Given the description of an element on the screen output the (x, y) to click on. 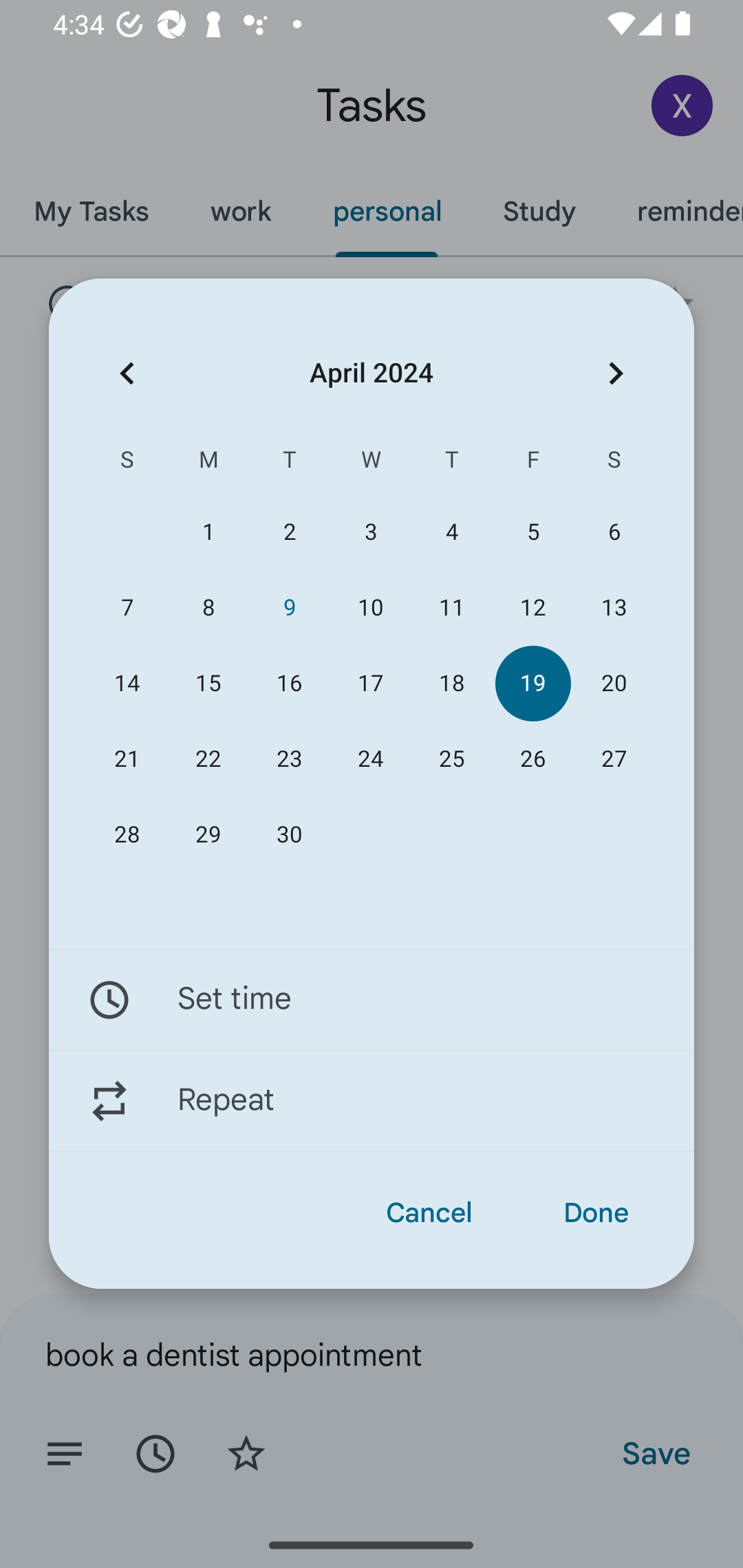
Previous month (126, 372)
Next month (615, 372)
1 01 April 2024 (207, 531)
2 02 April 2024 (288, 531)
3 03 April 2024 (370, 531)
4 04 April 2024 (451, 531)
5 05 April 2024 (532, 531)
6 06 April 2024 (613, 531)
7 07 April 2024 (126, 608)
8 08 April 2024 (207, 608)
9 09 April 2024 (288, 608)
10 10 April 2024 (370, 608)
11 11 April 2024 (451, 608)
12 12 April 2024 (532, 608)
13 13 April 2024 (613, 608)
14 14 April 2024 (126, 683)
15 15 April 2024 (207, 683)
16 16 April 2024 (288, 683)
17 17 April 2024 (370, 683)
18 18 April 2024 (451, 683)
19 19 April 2024 (532, 683)
20 20 April 2024 (613, 683)
21 21 April 2024 (126, 758)
22 22 April 2024 (207, 758)
23 23 April 2024 (288, 758)
24 24 April 2024 (370, 758)
25 25 April 2024 (451, 758)
26 26 April 2024 (532, 758)
27 27 April 2024 (613, 758)
28 28 April 2024 (126, 834)
29 29 April 2024 (207, 834)
30 30 April 2024 (288, 834)
Set time (371, 999)
Repeat (371, 1101)
Cancel (429, 1213)
Done (595, 1213)
